Given the description of an element on the screen output the (x, y) to click on. 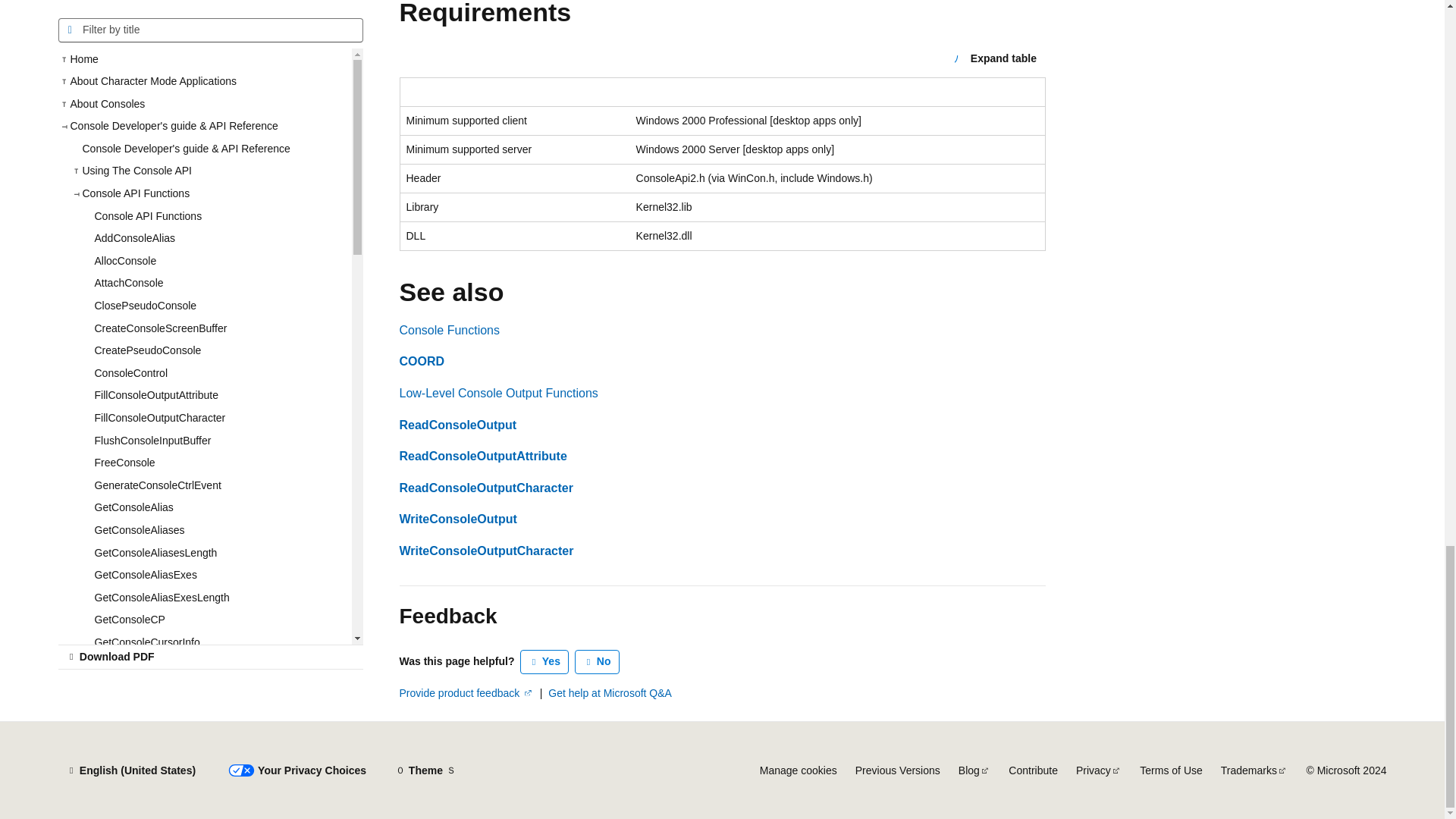
Theme (425, 770)
This article is helpful (544, 662)
This article is not helpful (597, 662)
